Given the description of an element on the screen output the (x, y) to click on. 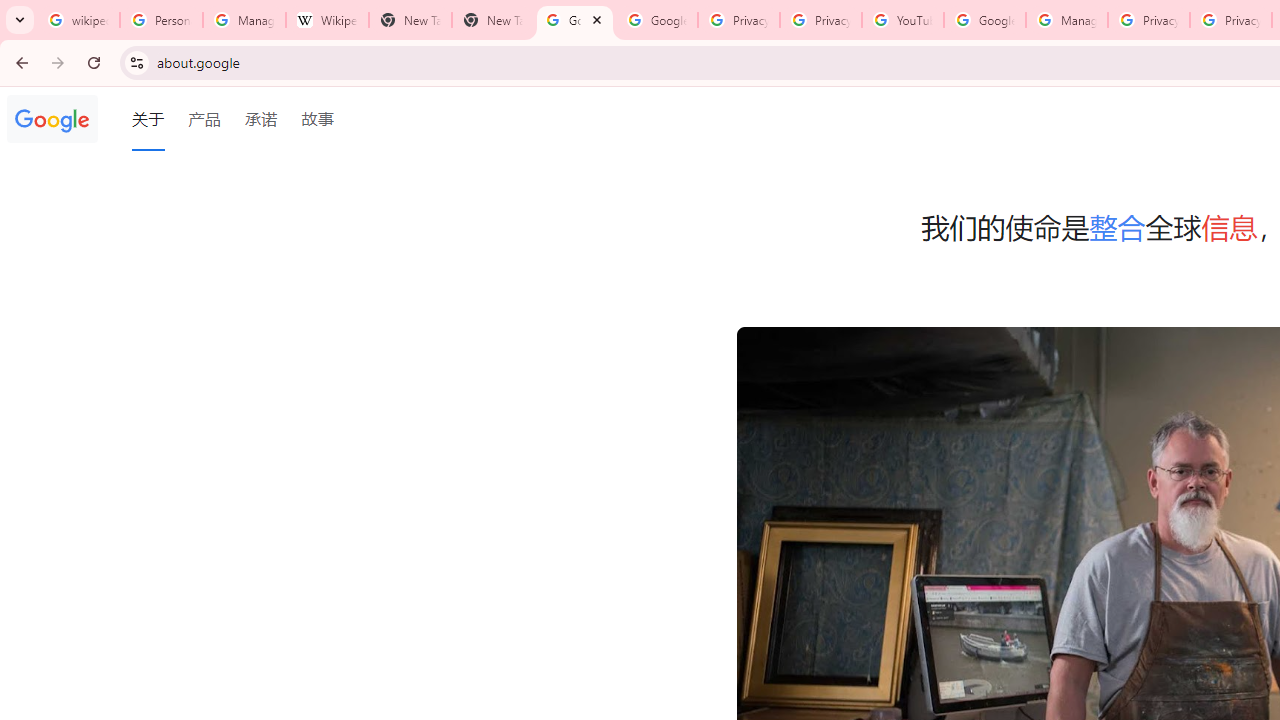
Manage your Location History - Google Search Help (244, 20)
New Tab (409, 20)
Google Account Help (984, 20)
Personalization & Google Search results - Google Search Help (161, 20)
Wikipedia:Edit requests - Wikipedia (326, 20)
